Given the description of an element on the screen output the (x, y) to click on. 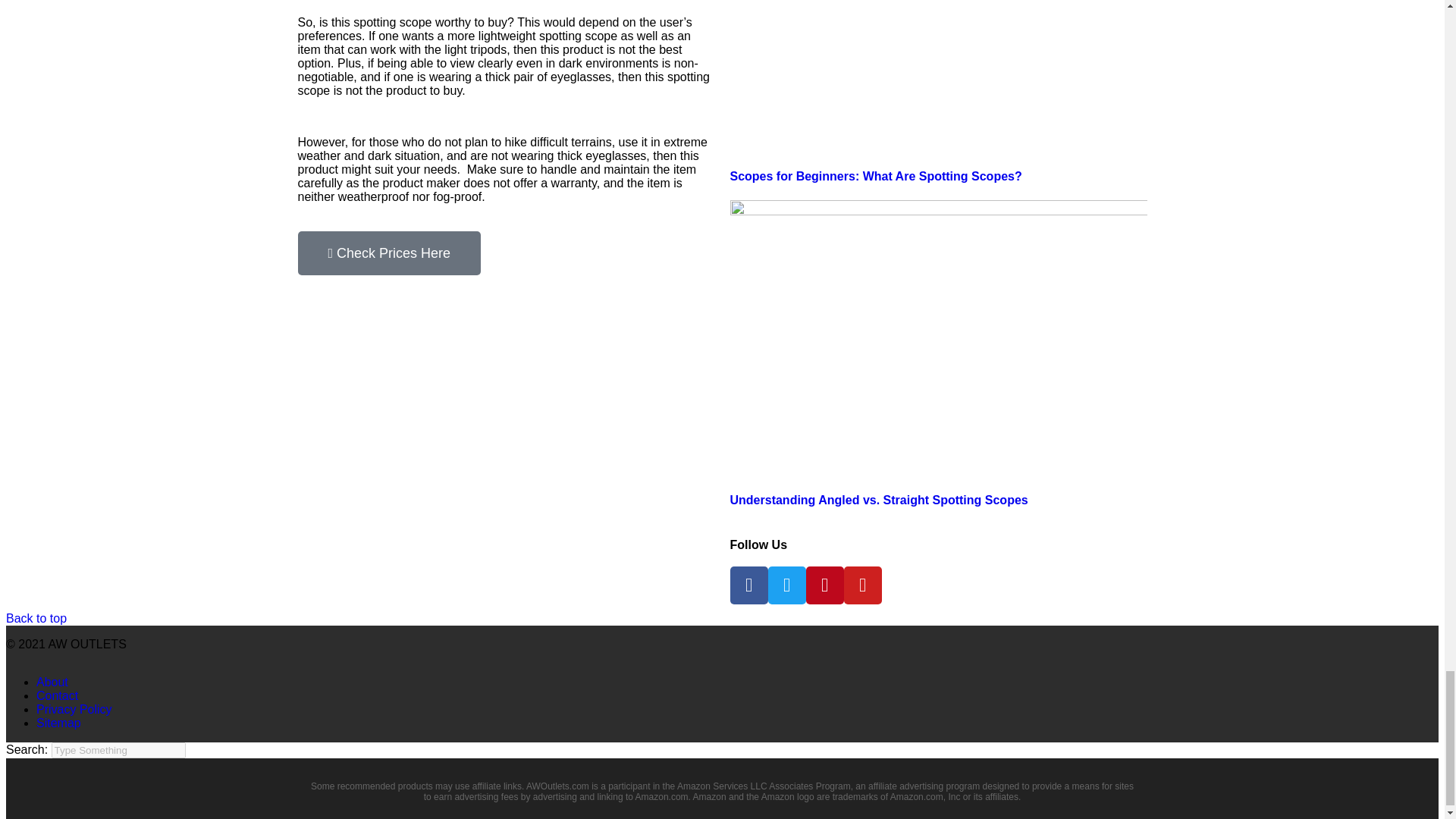
Understanding Angled vs. Straight Spotting Scopes (878, 499)
Search for: (118, 750)
Scopes for Beginners: What Are Spotting Scopes? (875, 175)
